Given the description of an element on the screen output the (x, y) to click on. 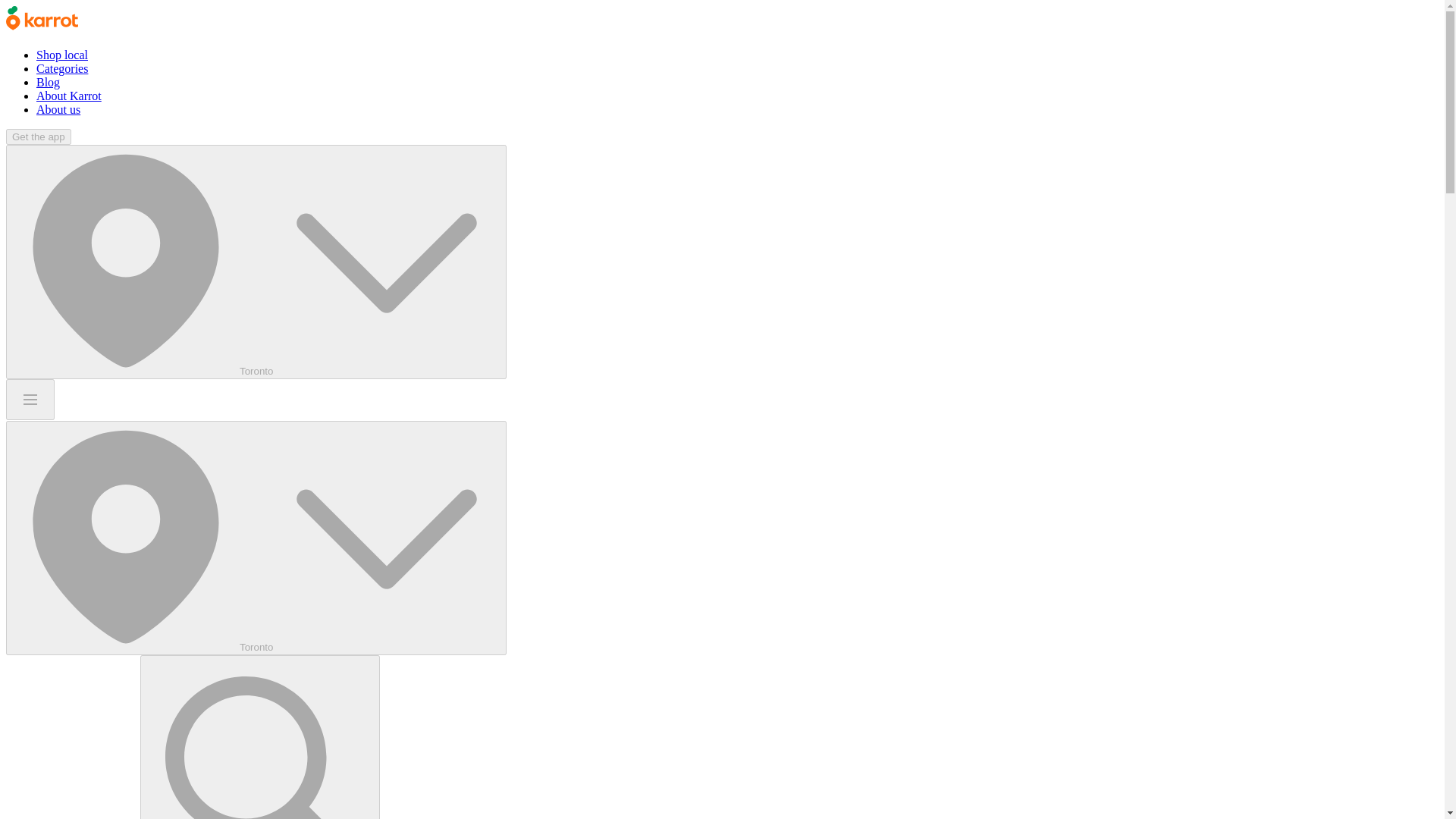
Categories (61, 68)
About Karrot (68, 95)
Get the app (38, 136)
Toronto (255, 261)
Toronto (255, 537)
Shop local (61, 54)
Blog (47, 82)
About us (58, 109)
